Given the description of an element on the screen output the (x, y) to click on. 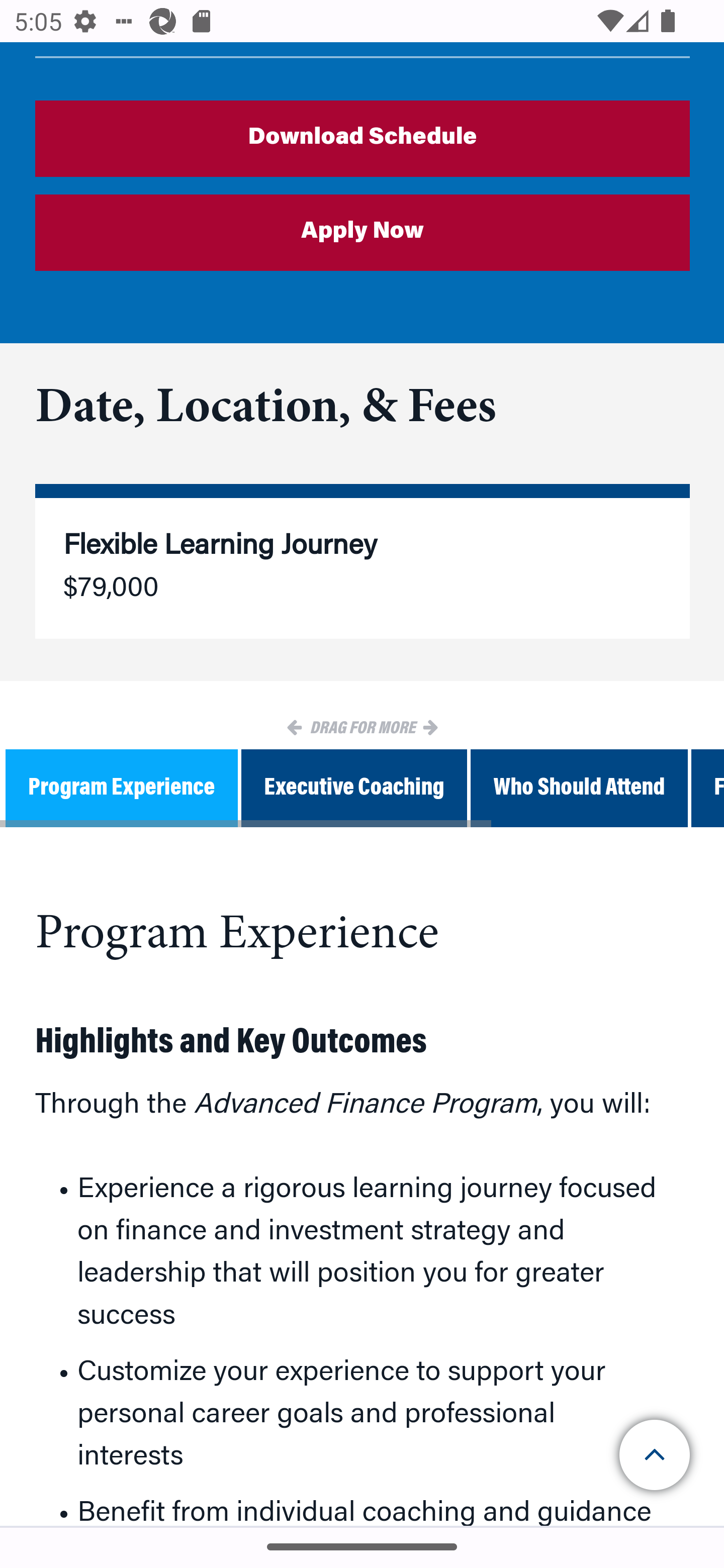
Download Schedule (363, 139)
Apply Now (363, 234)
Program Experience (121, 790)
Executive Coaching (353, 790)
Who Should Attend (578, 790)
 (655, 1455)
